Given the description of an element on the screen output the (x, y) to click on. 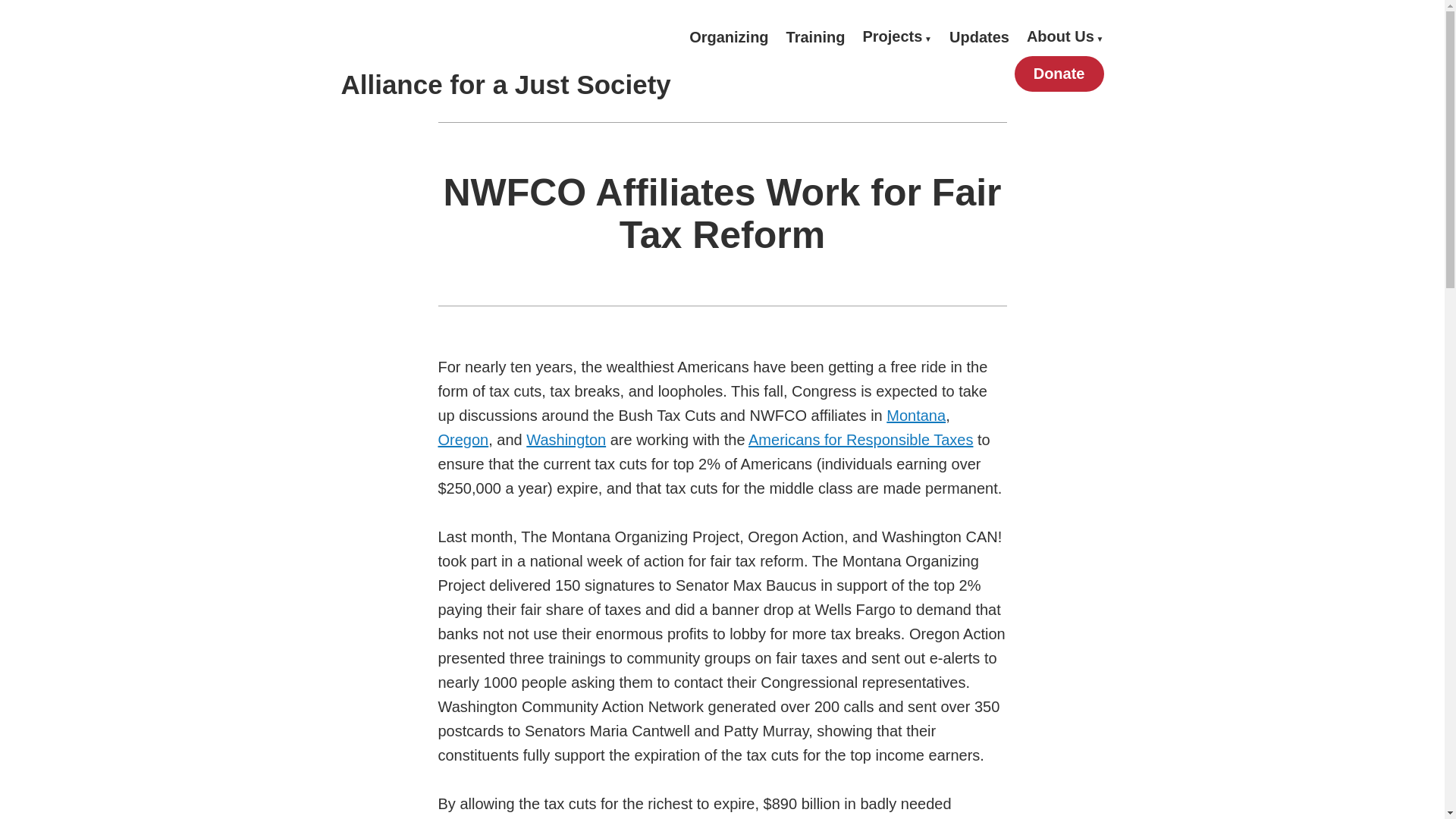
Training (815, 36)
About Us (1064, 37)
Updates (979, 36)
Donate (1058, 73)
Alliance for a Just Society (505, 84)
Organizing (728, 36)
Projects (896, 37)
